Given the description of an element on the screen output the (x, y) to click on. 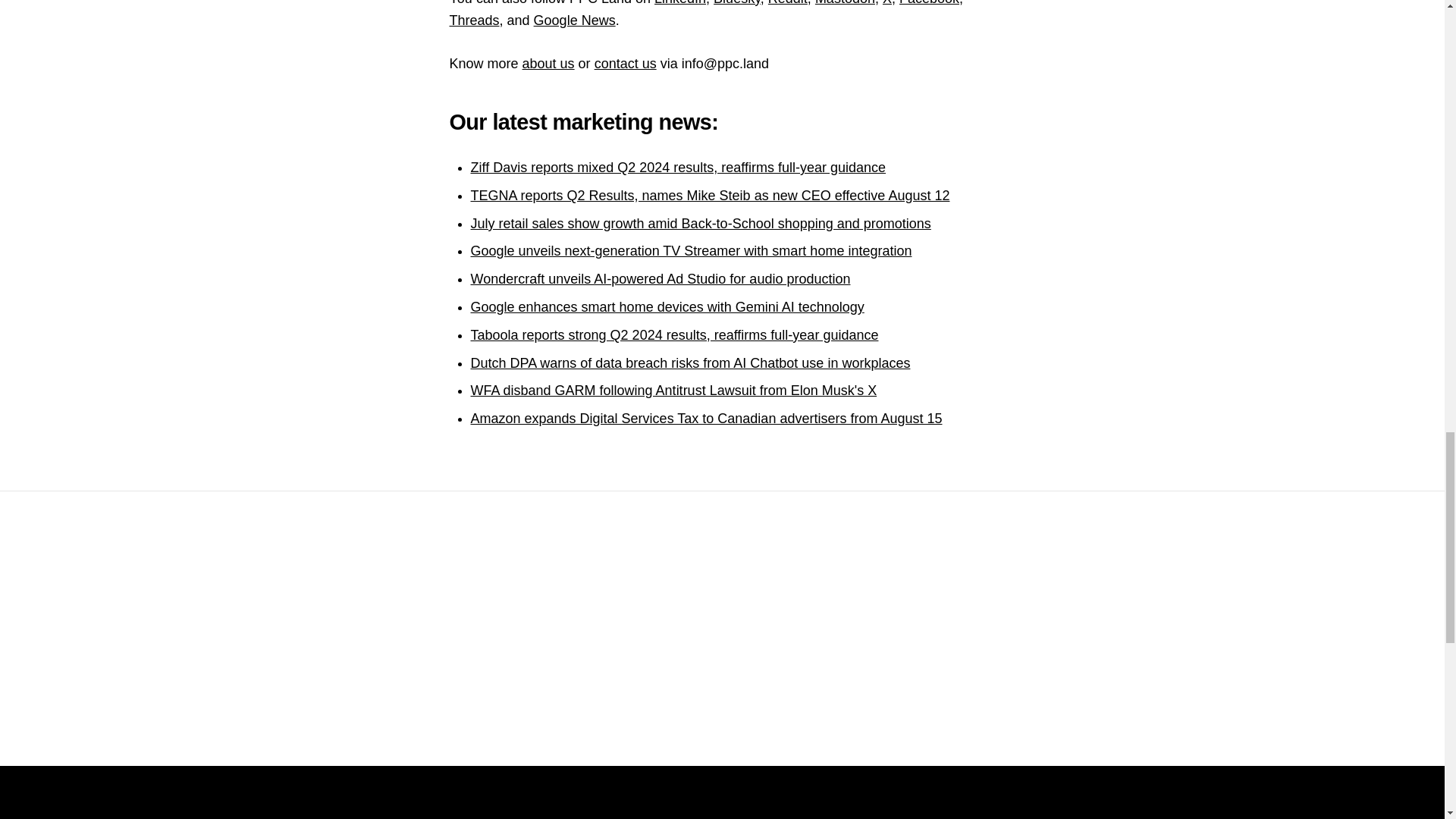
Google enhances smart home devices with Gemini AI technology (666, 306)
LinkedIn (679, 2)
Google News (574, 20)
Threads (473, 20)
Mastodon (845, 2)
about us (548, 63)
X (886, 2)
